Given the description of an element on the screen output the (x, y) to click on. 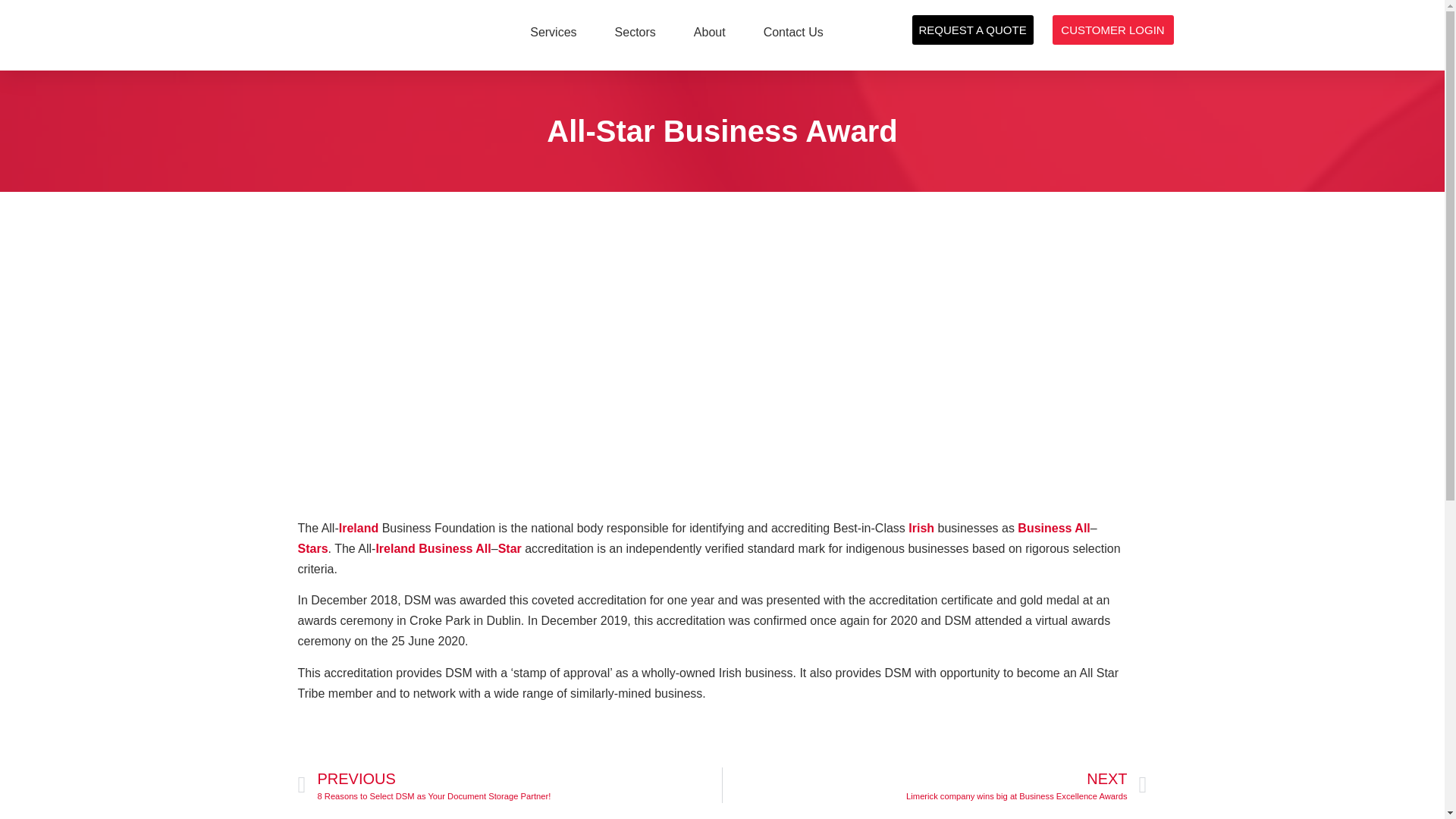
About (709, 32)
Services (552, 32)
Sectors (635, 32)
Contact Us (793, 32)
